Given the description of an element on the screen output the (x, y) to click on. 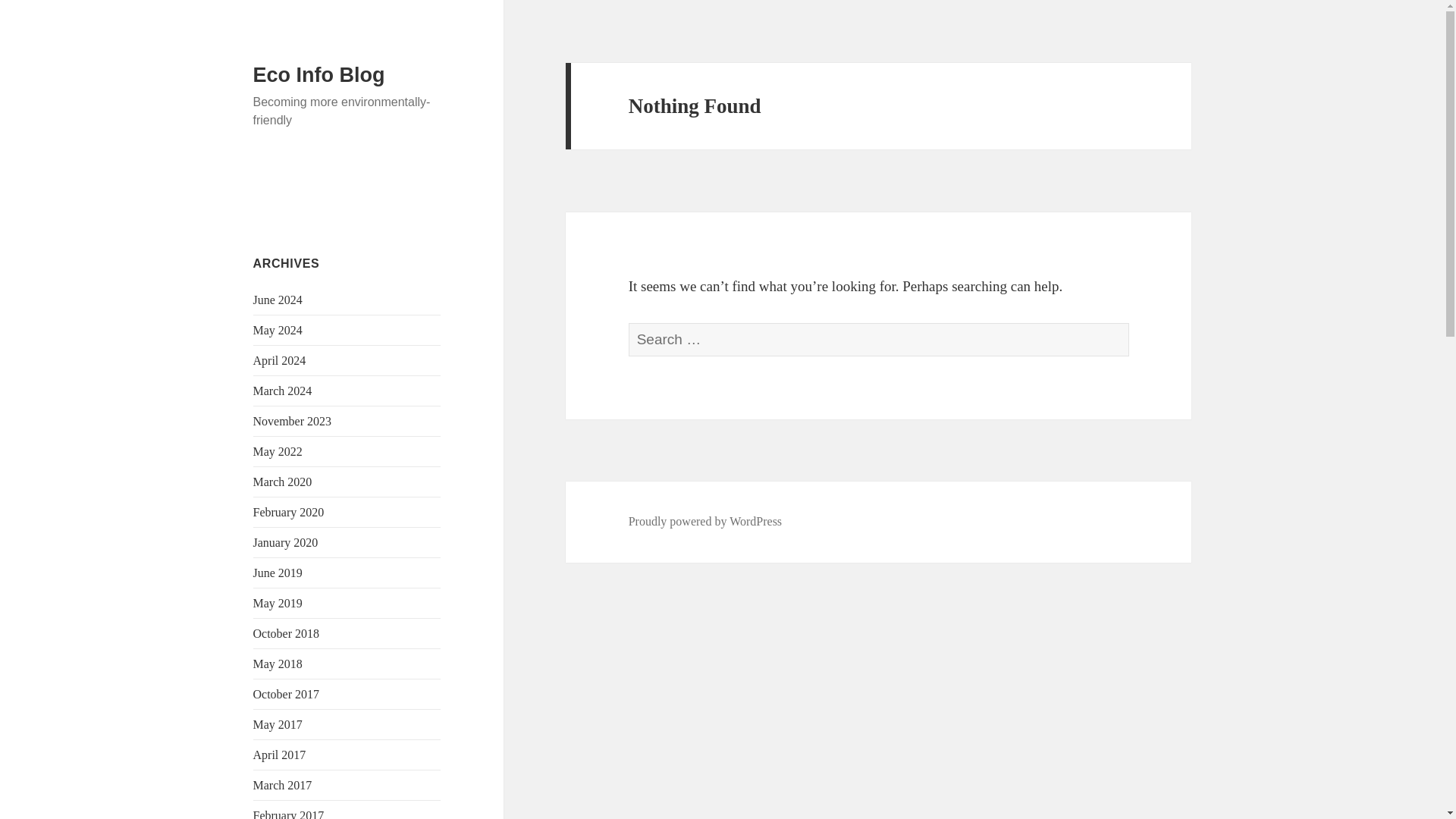
February 2017 (288, 814)
November 2023 (292, 420)
March 2020 (283, 481)
Eco Info Blog (319, 74)
May 2024 (277, 329)
May 2018 (277, 663)
June 2024 (277, 299)
March 2017 (283, 784)
March 2024 (283, 390)
